Given the description of an element on the screen output the (x, y) to click on. 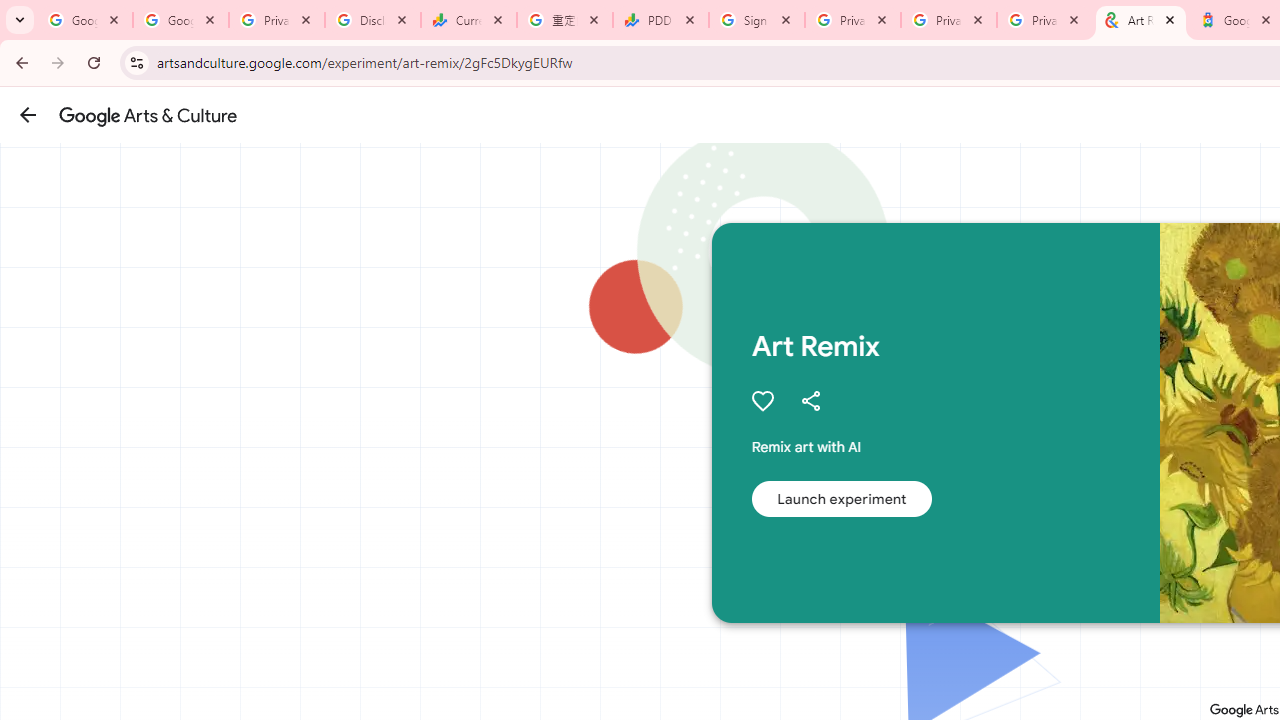
Currencies - Google Finance (469, 20)
Google Workspace Admin Community (85, 20)
PDD Holdings Inc - ADR (PDD) Price & News - Google Finance (661, 20)
Authenticate to favorite this asset. (762, 400)
